Given the description of an element on the screen output the (x, y) to click on. 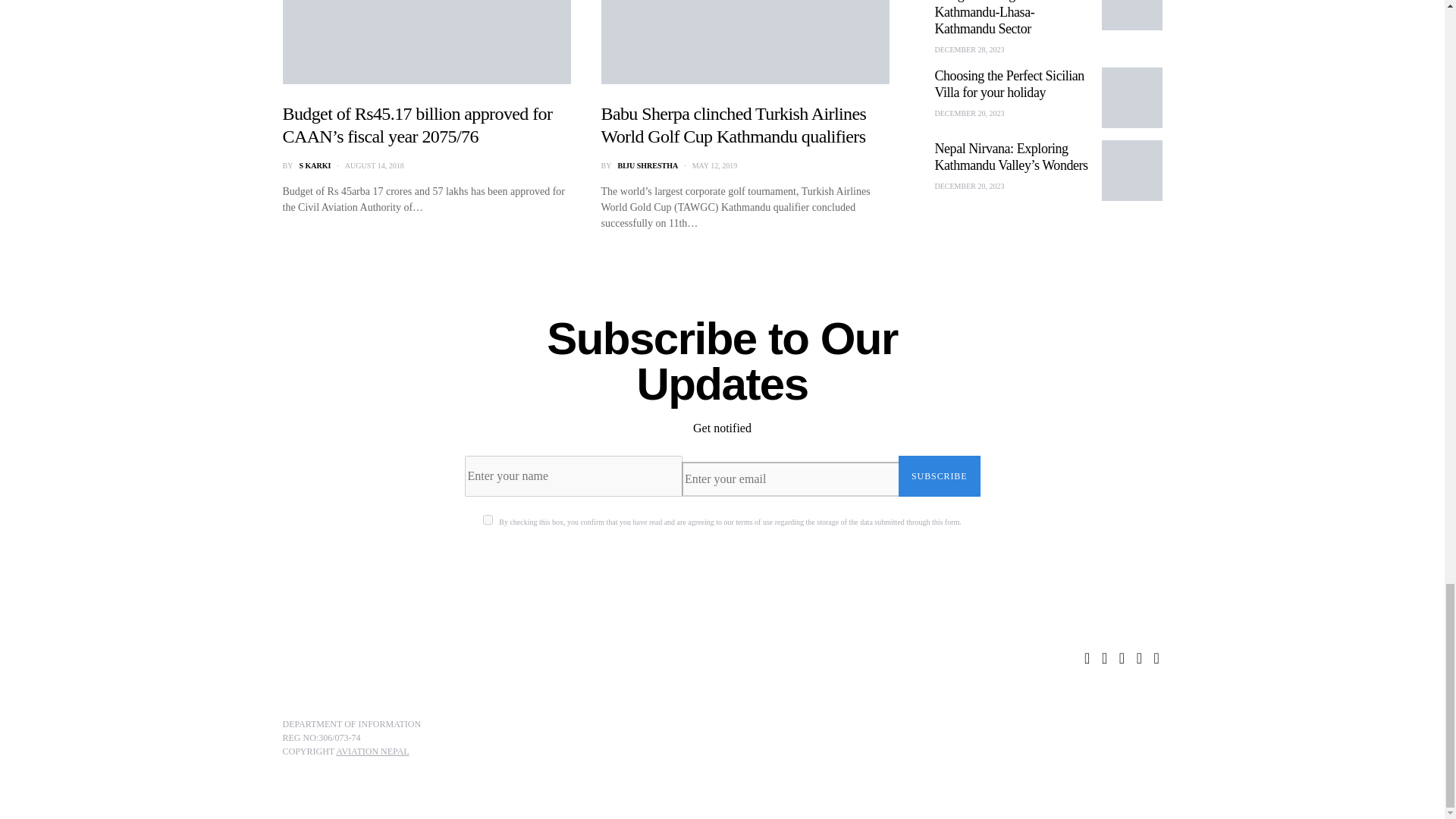
on (488, 519)
View all posts by S Karki (314, 165)
View all posts by Biju Shrestha (647, 165)
